Given the description of an element on the screen output the (x, y) to click on. 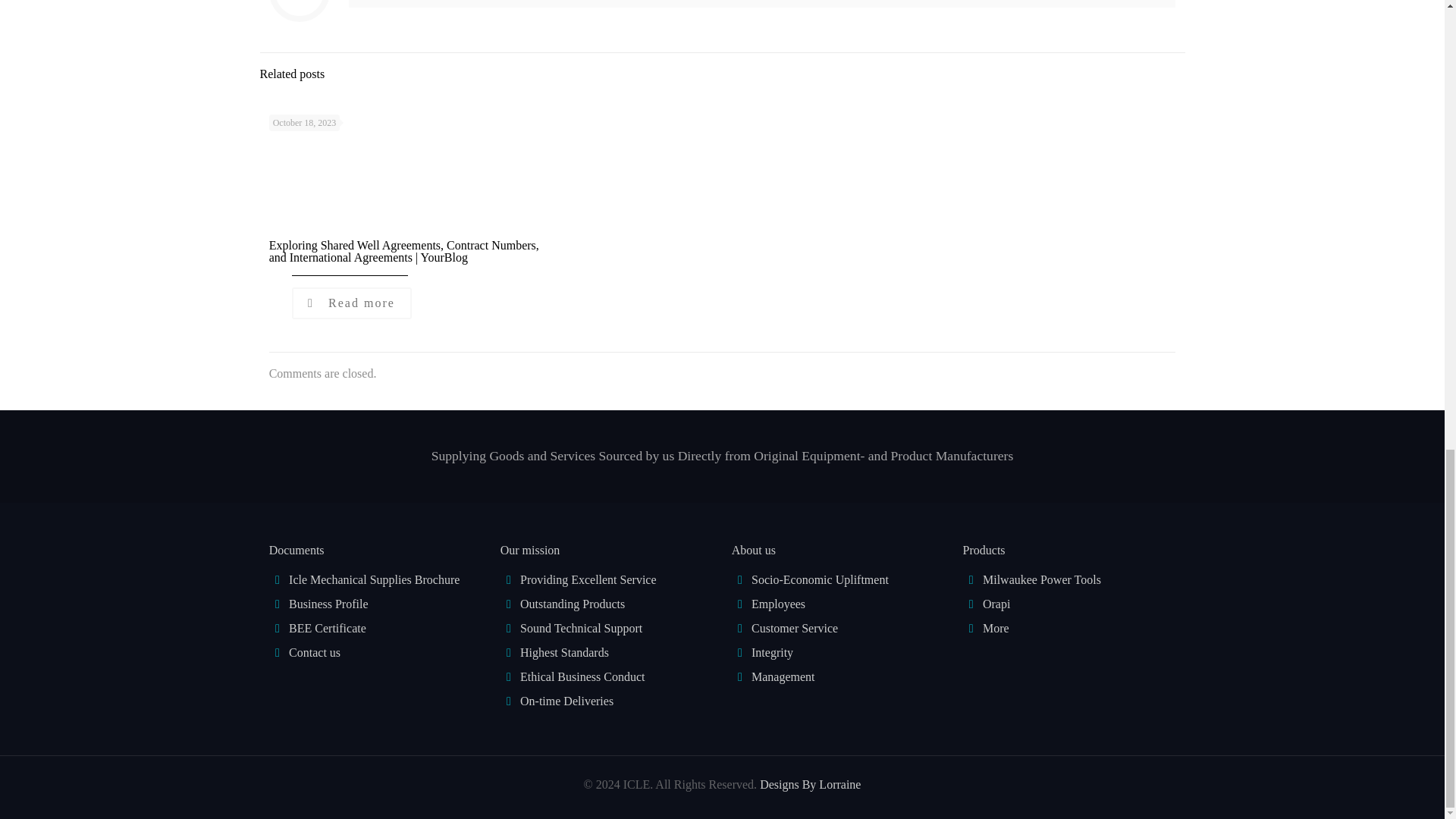
Contact us (314, 652)
Ethical Business Conduct (582, 676)
Outstanding Products (571, 603)
Providing Excellent Service (587, 579)
Employees (778, 603)
Icle Mechanical Supplies Brochure (374, 579)
Socio-Economic Upliftment (819, 579)
BEE Certificate (327, 627)
Sound Technical Support (580, 627)
On-time Deliveries (565, 700)
